Given the description of an element on the screen output the (x, y) to click on. 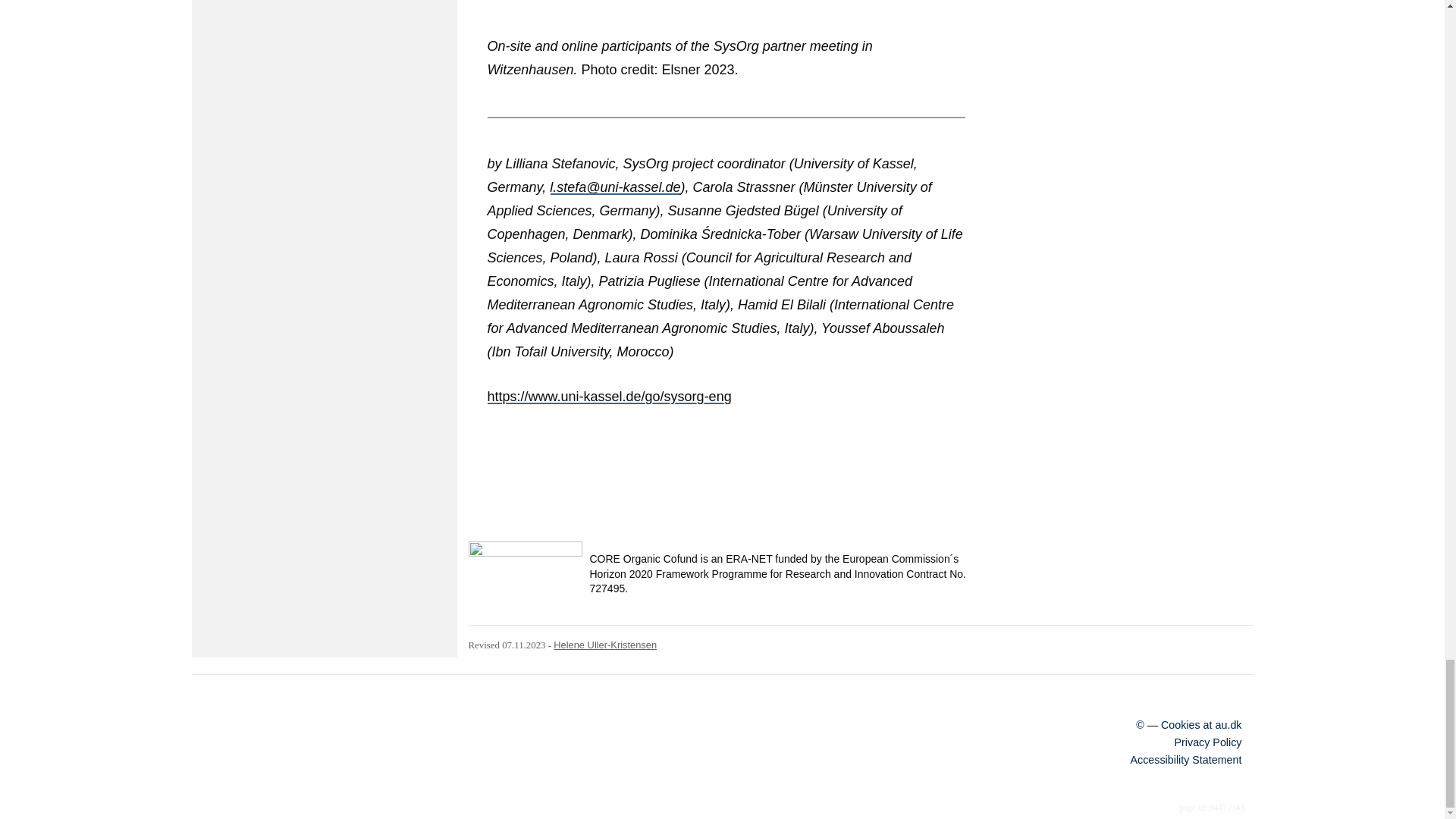
Privacy Policy (1207, 742)
Cookies at au.dk (1200, 725)
Accessibility Statement (1185, 759)
Helene Uller-Kristensen (604, 644)
